Given the description of an element on the screen output the (x, y) to click on. 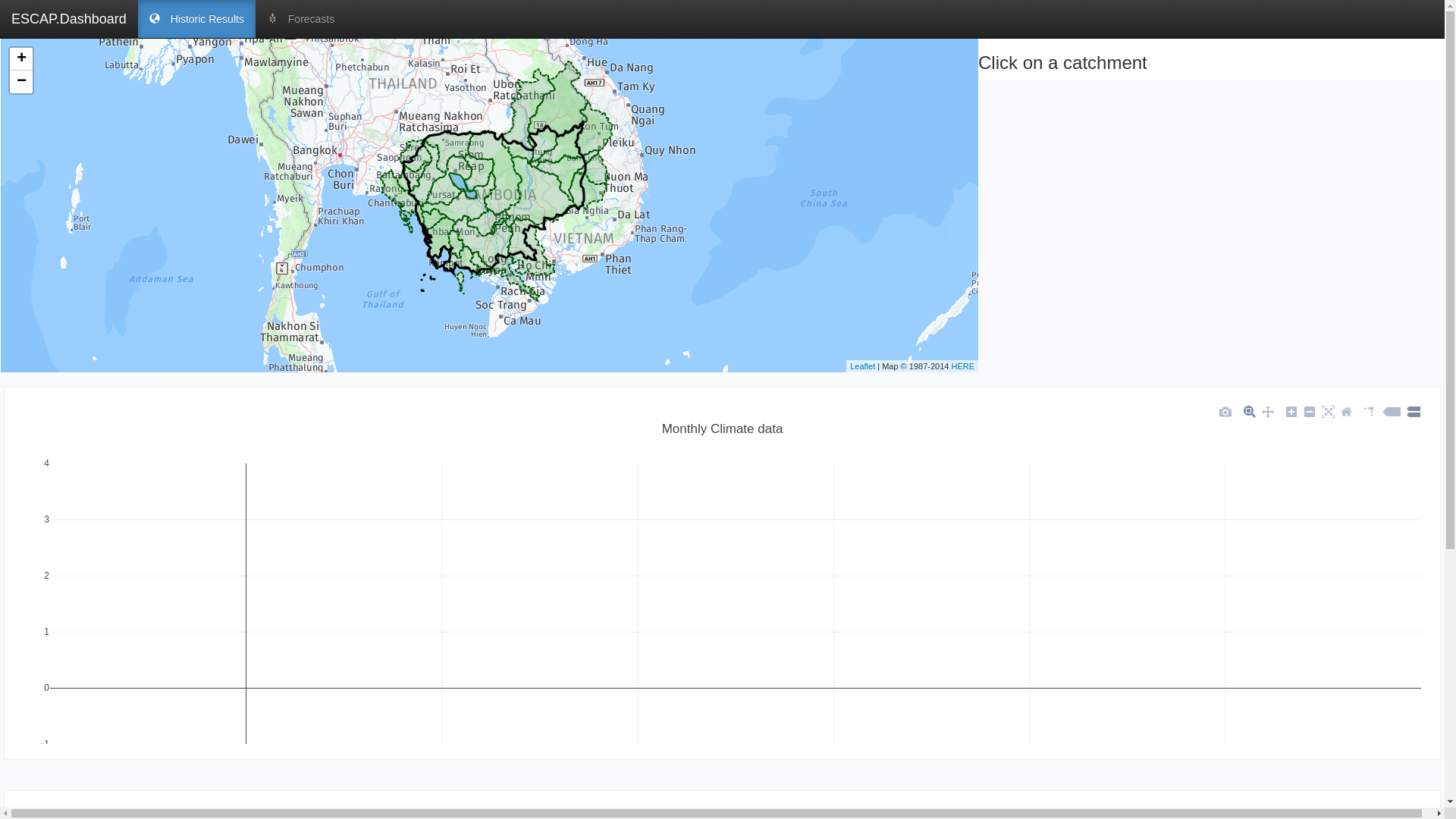
+ Element type: text (20, 58)
Forecasts Element type: text (300, 18)
Historic Results Element type: text (196, 18)
ESCAP.Dashboard Element type: text (69, 18)
HERE Element type: text (962, 365)
Leaflet Element type: text (862, 365)
